Given the description of an element on the screen output the (x, y) to click on. 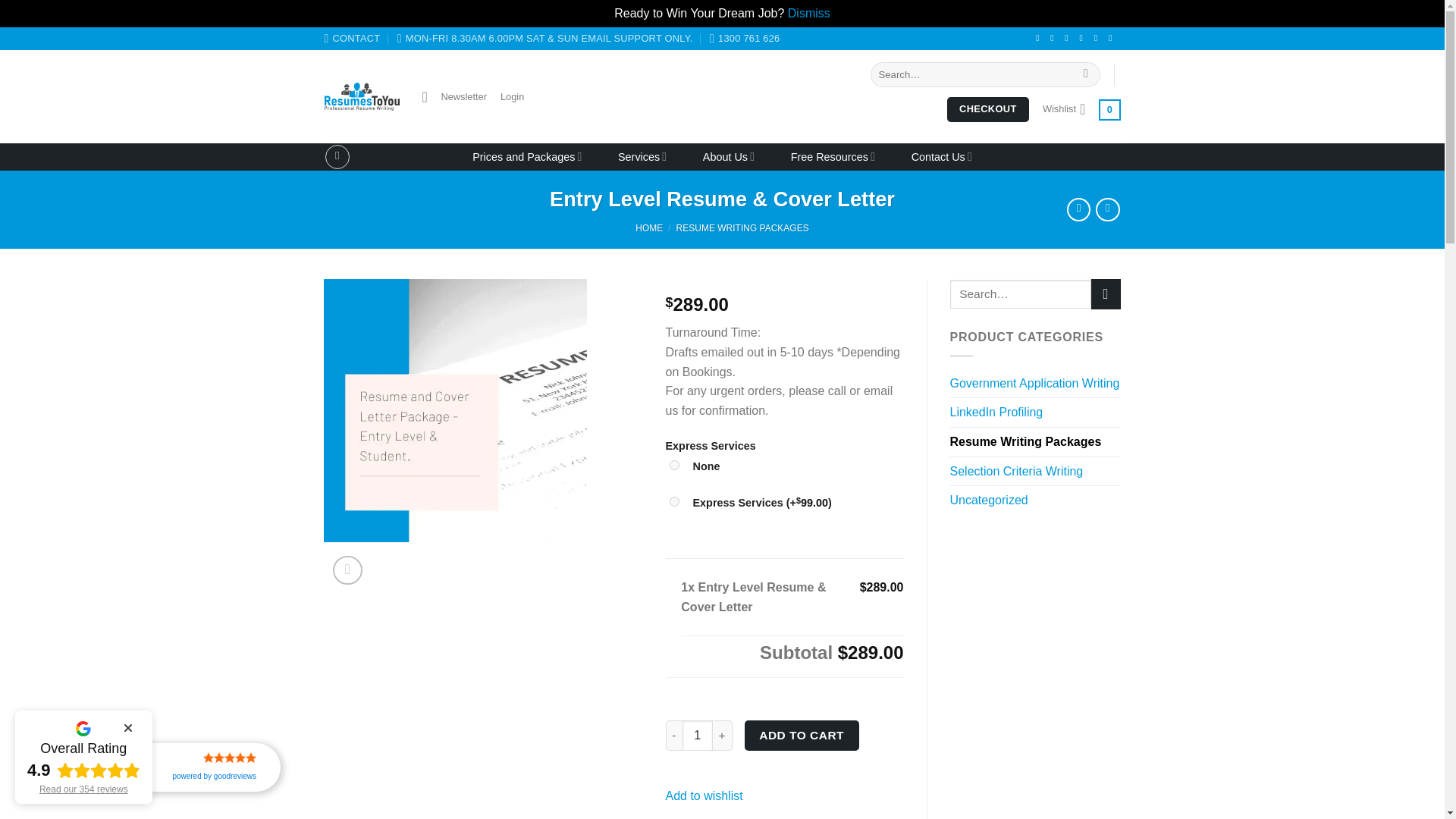
Services (642, 156)
1300 761 626 (744, 38)
express-services (673, 501)
CONTACT (352, 38)
Search (1086, 74)
1 (697, 735)
Dismiss (808, 12)
Resumes To You - Resume Writing Service (361, 96)
Newsletter (454, 96)
Prices and Packages (526, 156)
Sign up for Newsletter (454, 96)
CHECKOUT (988, 109)
Wishlist (1063, 108)
Wishlist (1063, 108)
1300 761 626 (744, 38)
